Given the description of an element on the screen output the (x, y) to click on. 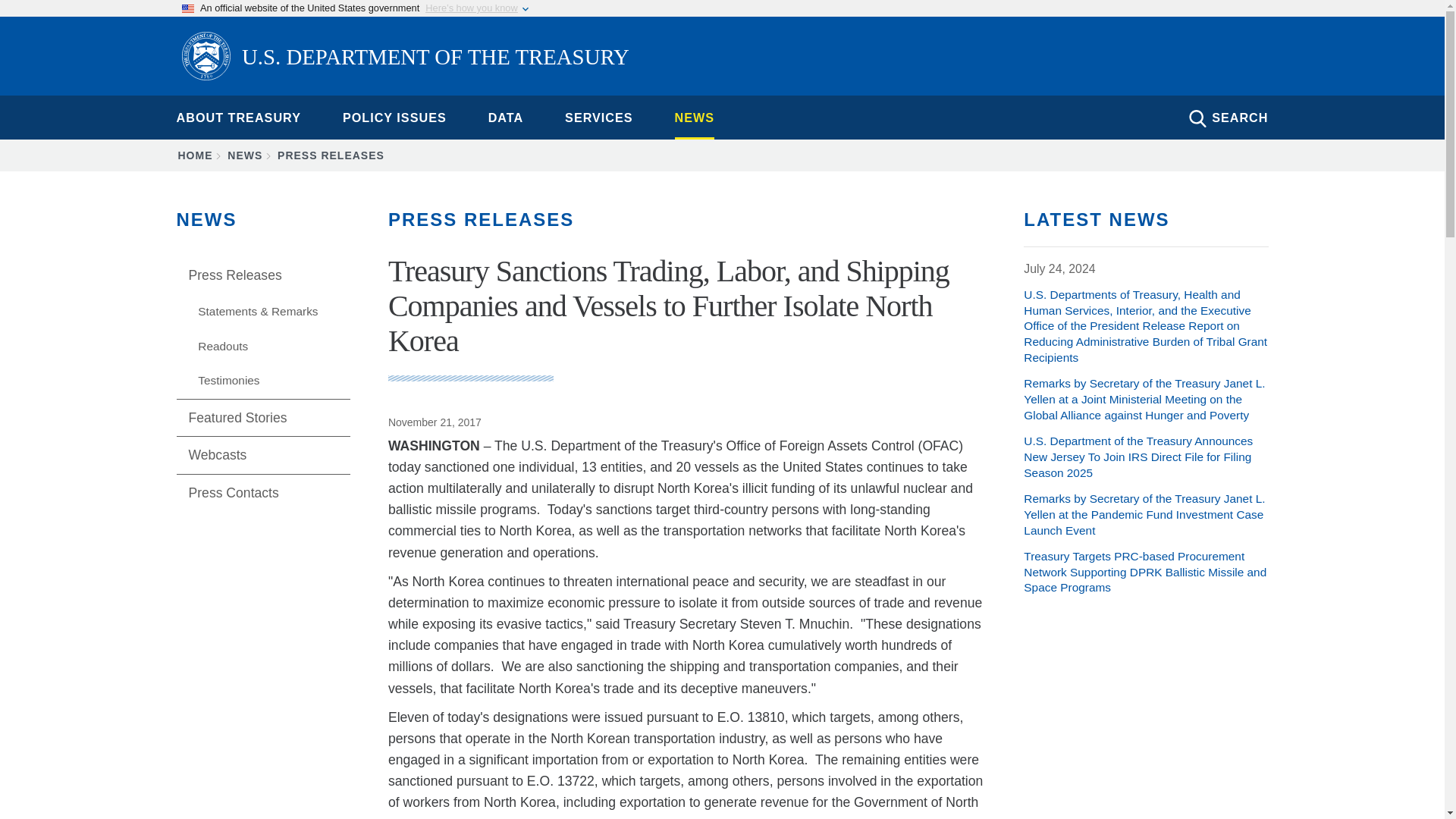
ABOUT TREASURY (238, 117)
U.S. DEPARTMENT OF THE TREASURY (405, 58)
Home (405, 58)
